Given the description of an element on the screen output the (x, y) to click on. 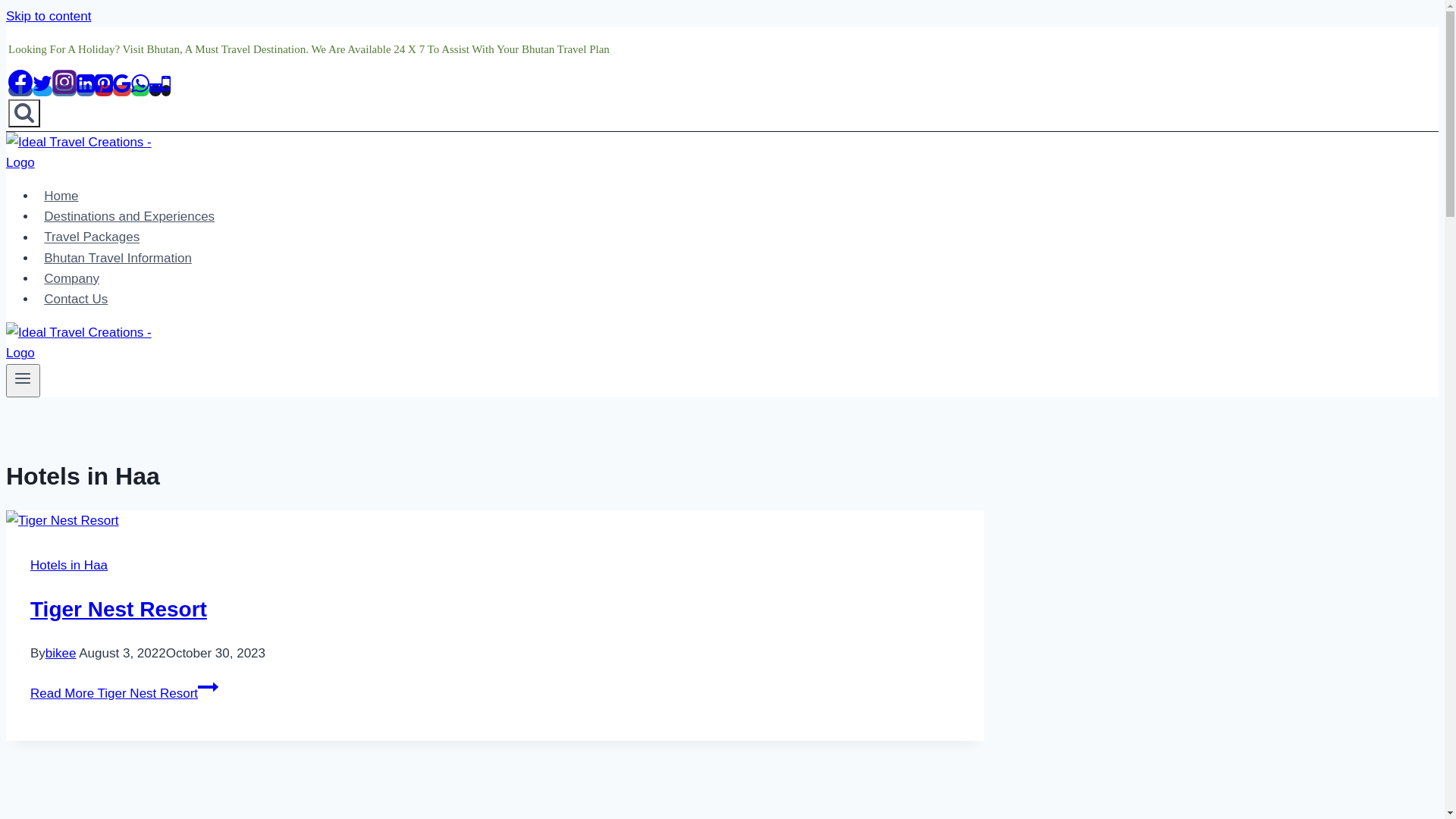
Tiger Nest Resort Element type: text (118, 609)
bikee Element type: text (60, 653)
Twitter Element type: text (42, 90)
Contact Us Element type: text (75, 298)
Google Reviews Element type: text (121, 90)
Read More Tiger Nest ResortContinue Element type: text (124, 693)
Pinterest Element type: text (103, 90)
Linkedin Element type: text (85, 90)
Bhutan Travel Information Element type: text (117, 258)
Search Element type: text (24, 113)
Skip to content Element type: text (48, 16)
Facebook Element type: text (20, 90)
Hotels in Haa Element type: text (68, 565)
Phone Element type: text (165, 90)
Destinations and Experiences Element type: text (129, 216)
Company Element type: text (71, 278)
Email Element type: text (155, 90)
Instagram Element type: text (64, 90)
Home Element type: text (61, 195)
Travel Packages Element type: text (91, 236)
Toggle Menu Element type: text (23, 380)
WhatsApp Element type: text (140, 90)
